Given the description of an element on the screen output the (x, y) to click on. 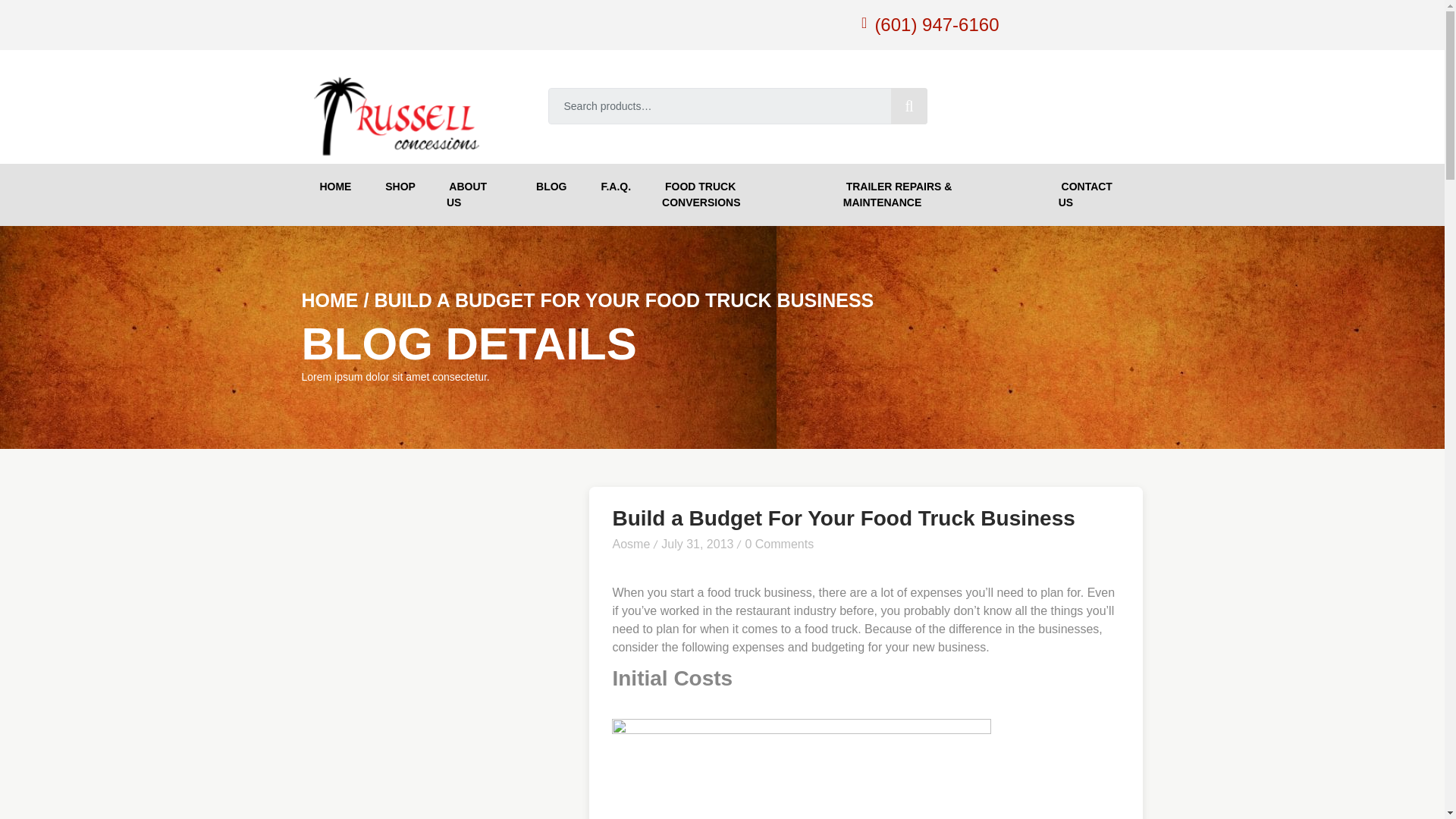
 HOME (333, 186)
 CONTACT US (1092, 194)
 BLOG (549, 186)
0 Comments (778, 543)
 FOOD TRUCK CONVERSIONS (736, 194)
Home (333, 186)
About Us (473, 194)
Shop (398, 186)
HOME (329, 300)
F.A.Q. (614, 186)
 SHOP (398, 186)
Aosme (630, 543)
Blog (549, 186)
 ABOUT US (473, 194)
 F.A.Q. (614, 186)
